Given the description of an element on the screen output the (x, y) to click on. 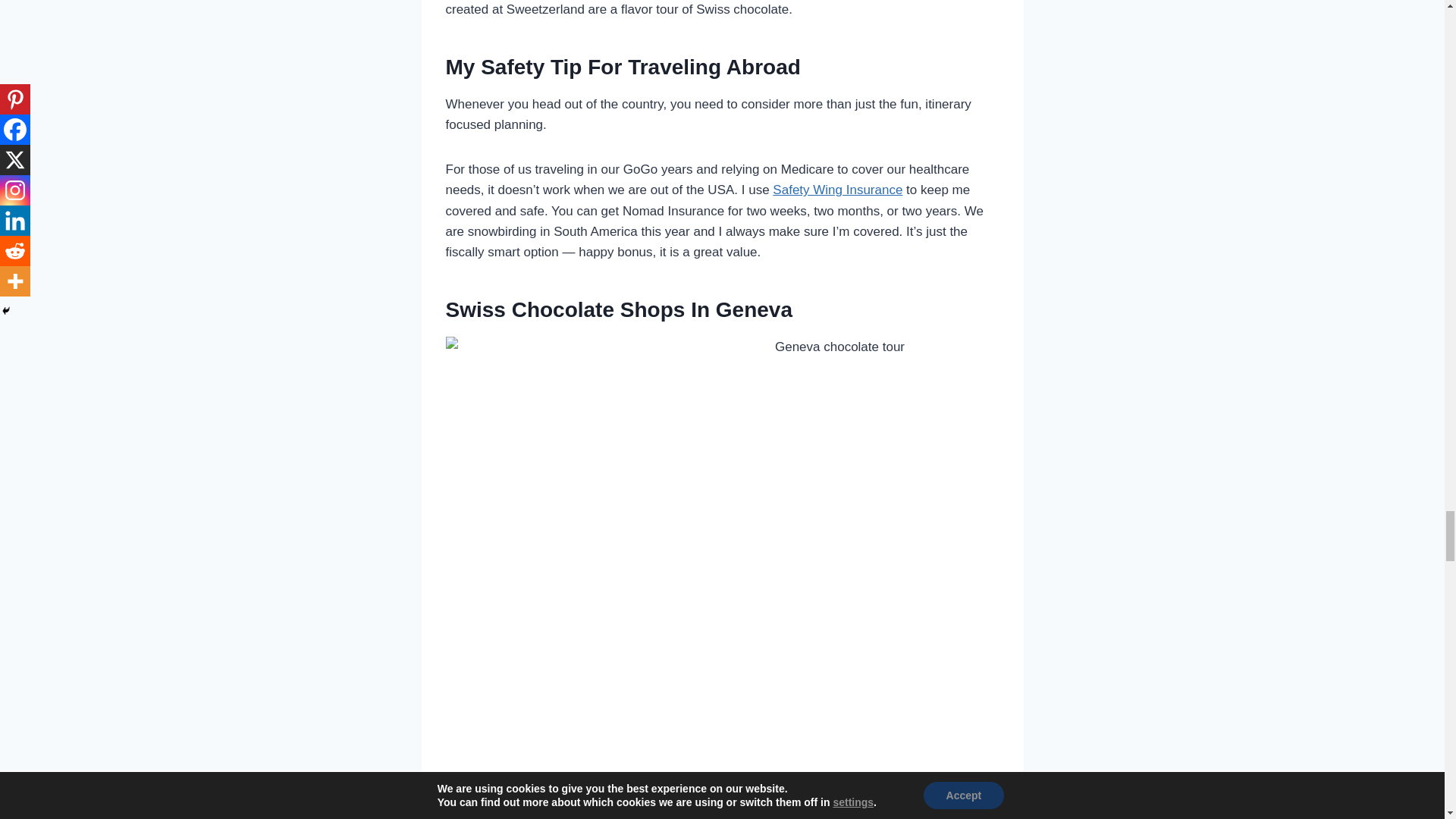
Safety Wing Insurance (837, 189)
